Given the description of an element on the screen output the (x, y) to click on. 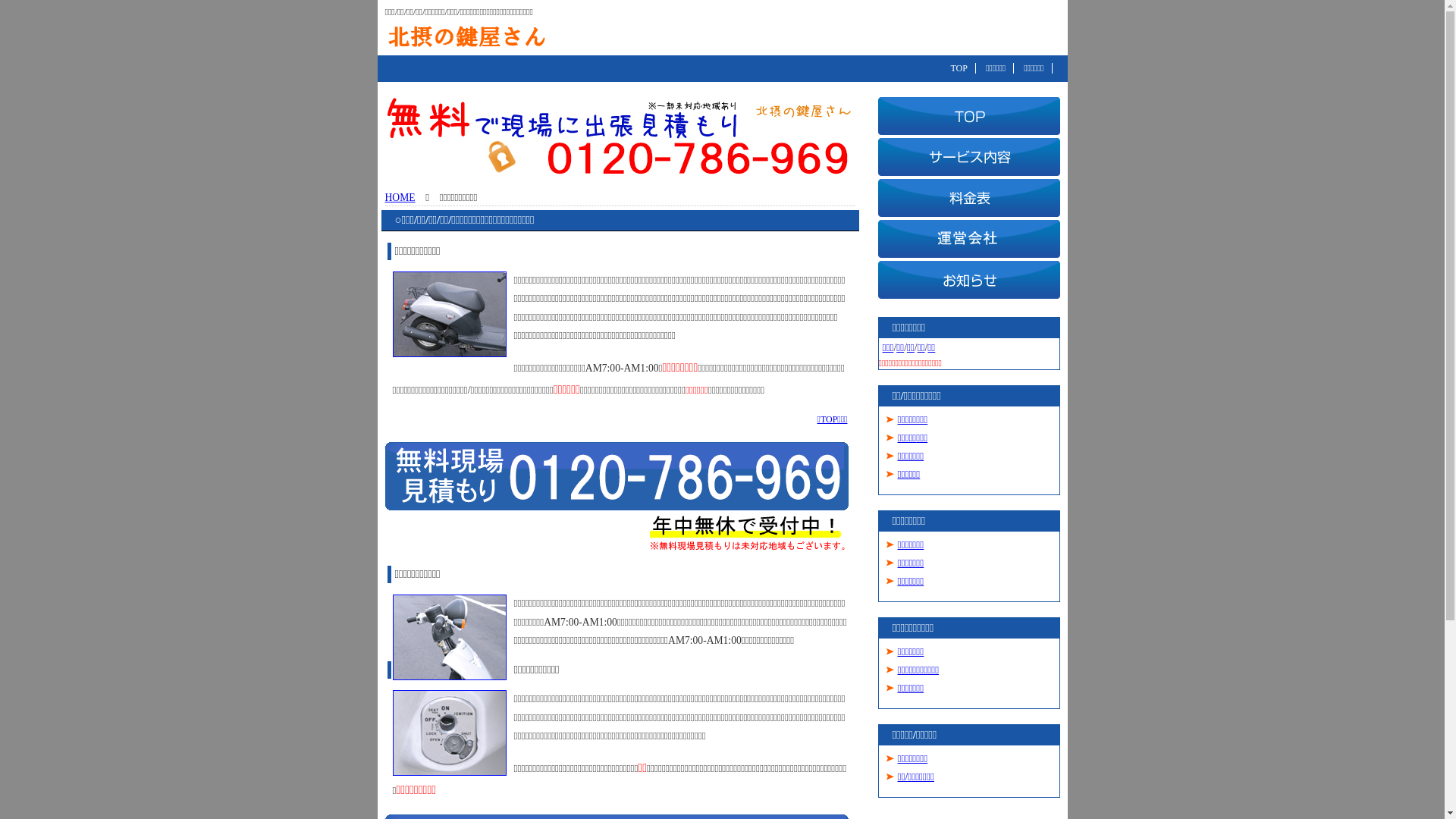
TOP Element type: text (958, 67)
HOME Element type: text (400, 197)
